Given the description of an element on the screen output the (x, y) to click on. 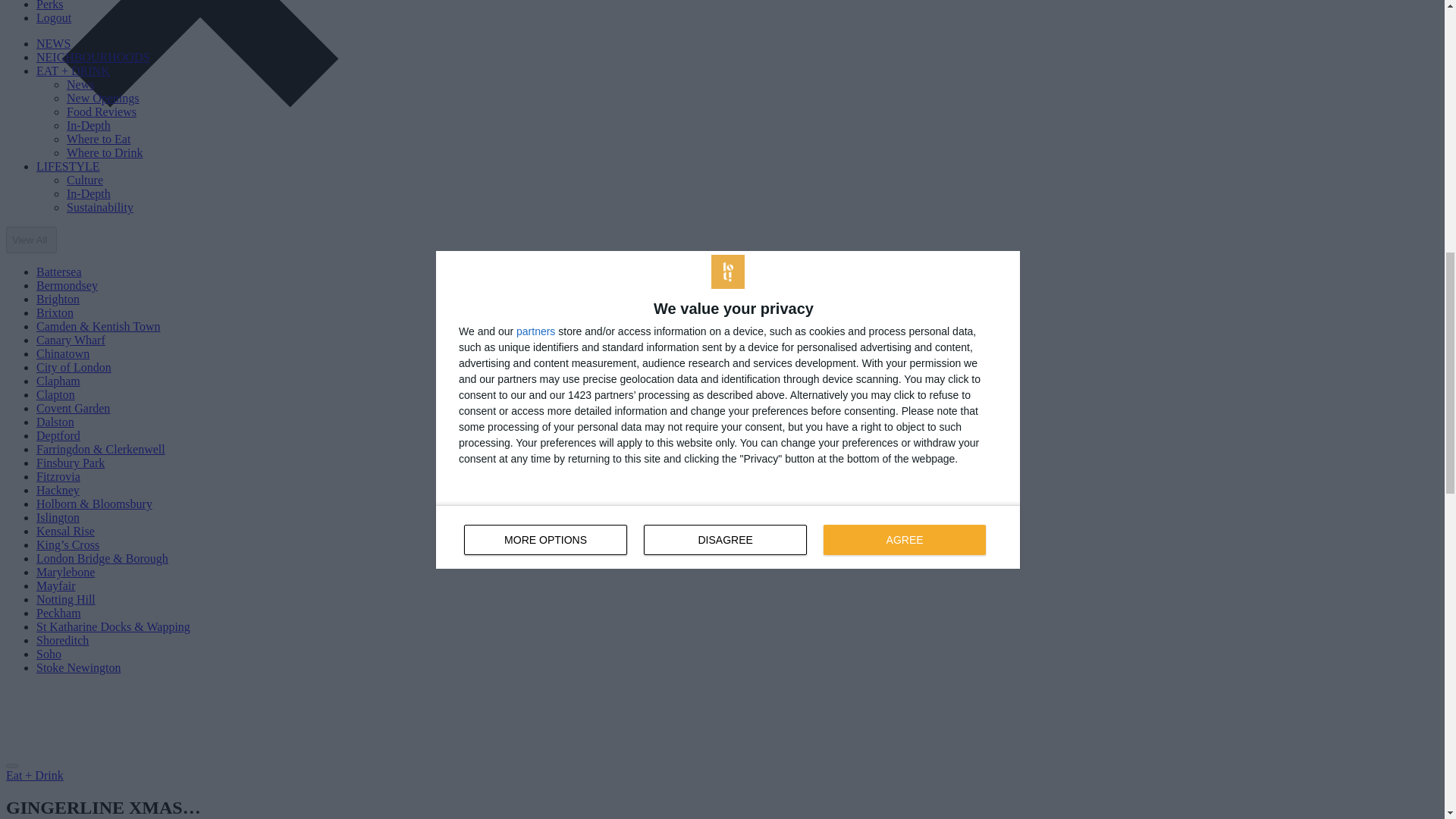
Logout (53, 17)
Where To Drink (104, 152)
In-Depth (88, 124)
Where To Eat (98, 138)
